Given the description of an element on the screen output the (x, y) to click on. 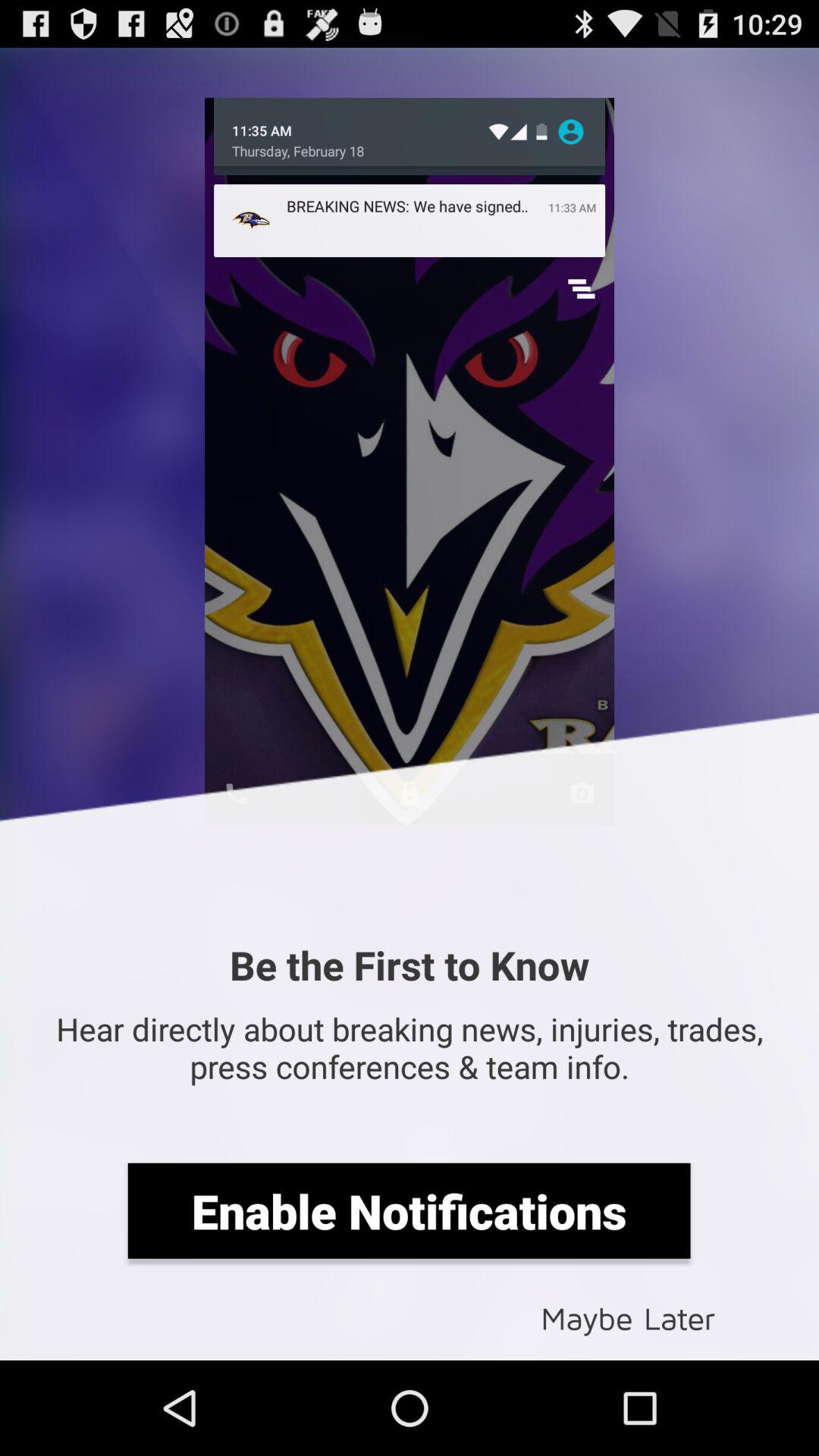
turn off icon above the maybe later item (408, 1210)
